Given the description of an element on the screen output the (x, y) to click on. 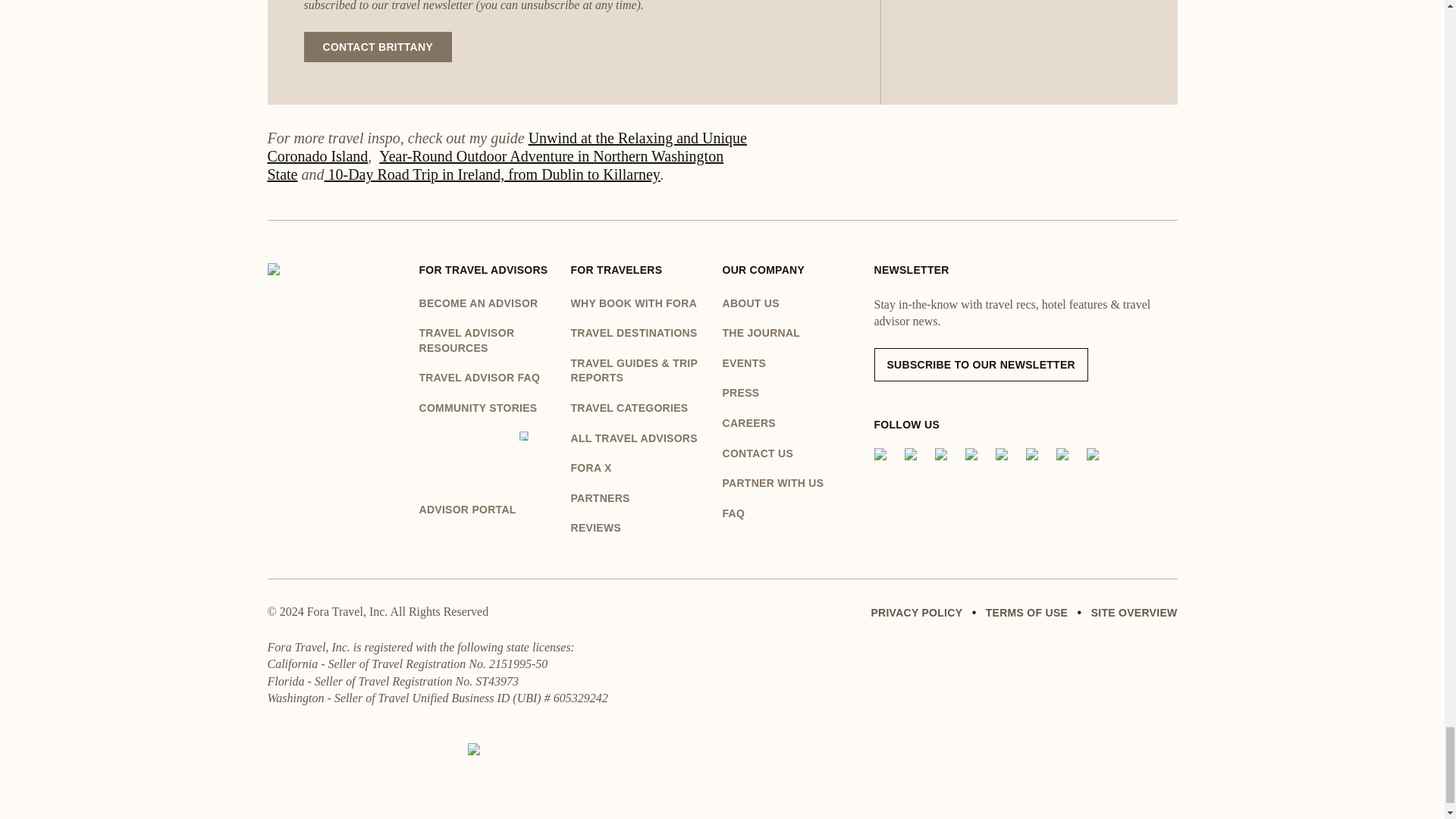
TRAVEL DESTINATIONS (638, 333)
COMMUNITY STORIES (486, 408)
 10-Day Road Trip in Ireland, from Dublin to Killarney (492, 174)
CONTACT BRITTANY (376, 46)
PARTNERS (638, 498)
ADVISOR PORTAL (486, 474)
ALL TRAVEL ADVISORS (638, 438)
TRAVEL ADVISOR RESOURCES (486, 340)
FORA X (638, 468)
TRAVEL ADVISOR FAQ (486, 378)
WHY BOOK WITH FORA (638, 304)
TRAVEL CATEGORIES (638, 408)
Year-Round Outdoor Adventure in Northern Washington State (494, 165)
REVIEWS (638, 528)
Unwind at the Relaxing and Unique Coronado Island (505, 146)
